Given the description of an element on the screen output the (x, y) to click on. 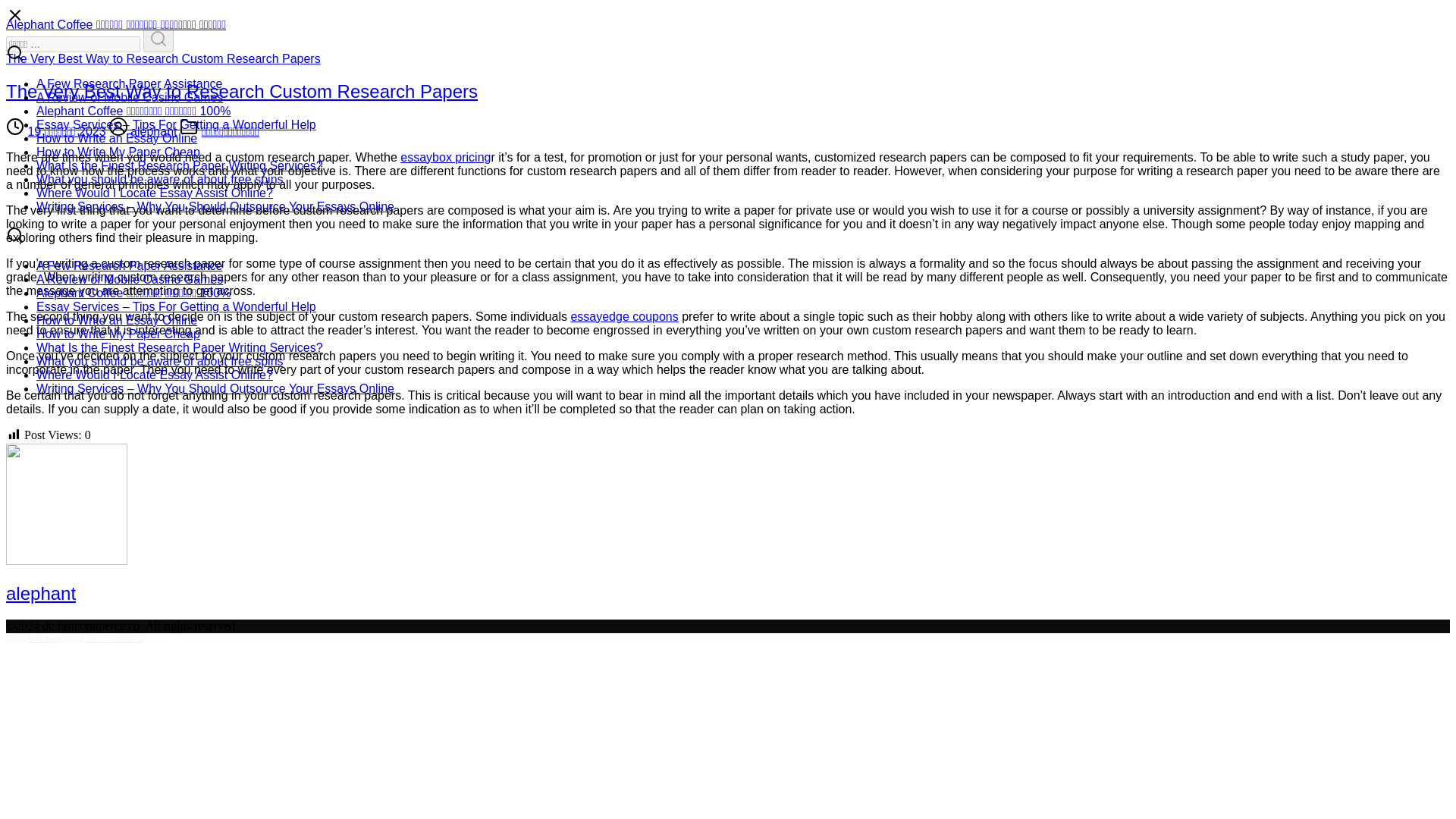
The Very Best Way to Research Custom Research Papers (162, 58)
A Review of Mobile Casino Games (129, 97)
essayedge coupons (624, 316)
Where Would I Locate Essay Assist Online? (154, 374)
Search (157, 39)
What you should be aware of about free spins (159, 360)
How to Write My Paper Cheap (118, 333)
What Is the Finest Research Paper Writing Services? (179, 347)
alephant (40, 593)
